Given the description of an element on the screen output the (x, y) to click on. 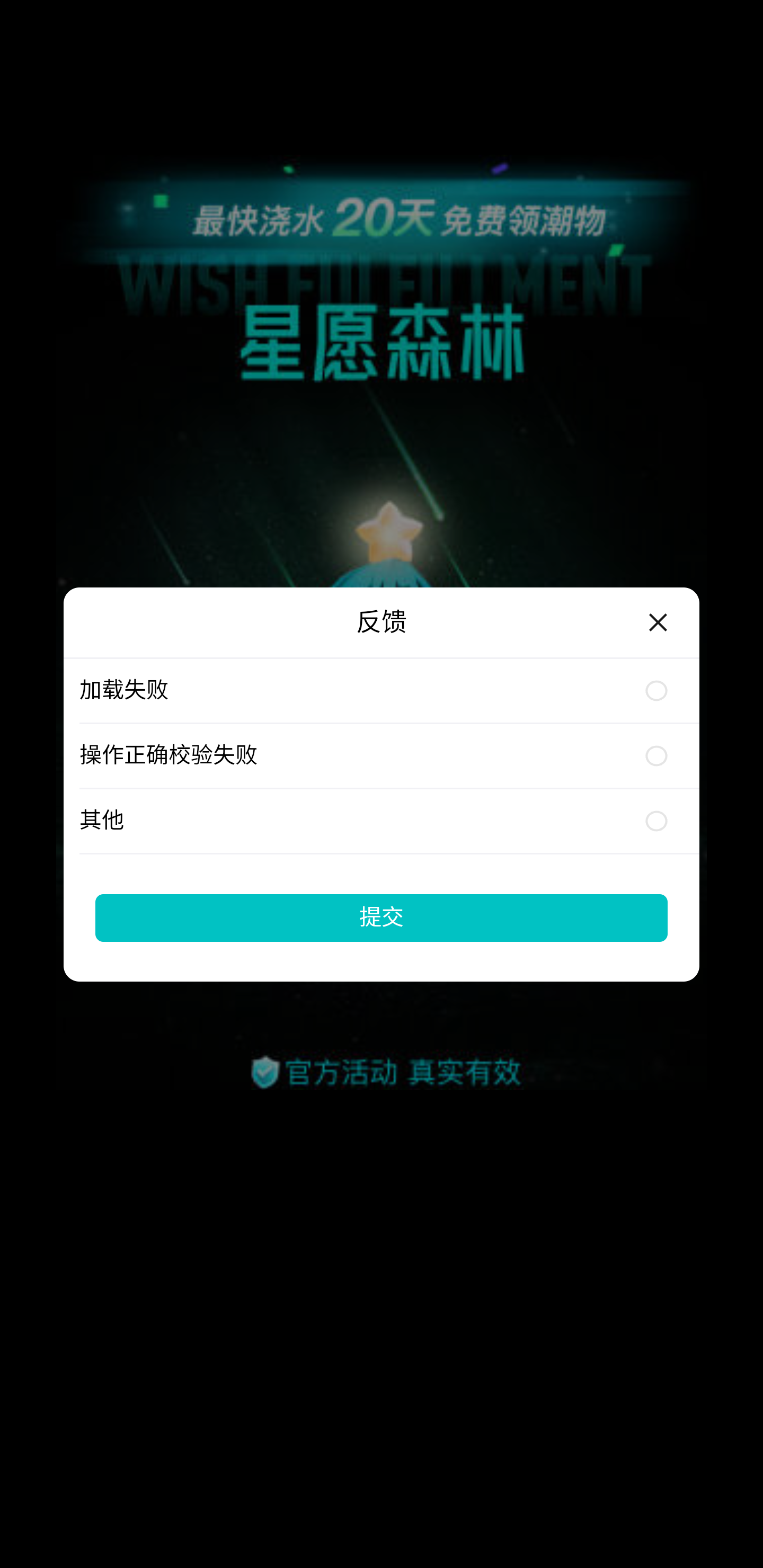
提交 (381, 917)
